Given the description of an element on the screen output the (x, y) to click on. 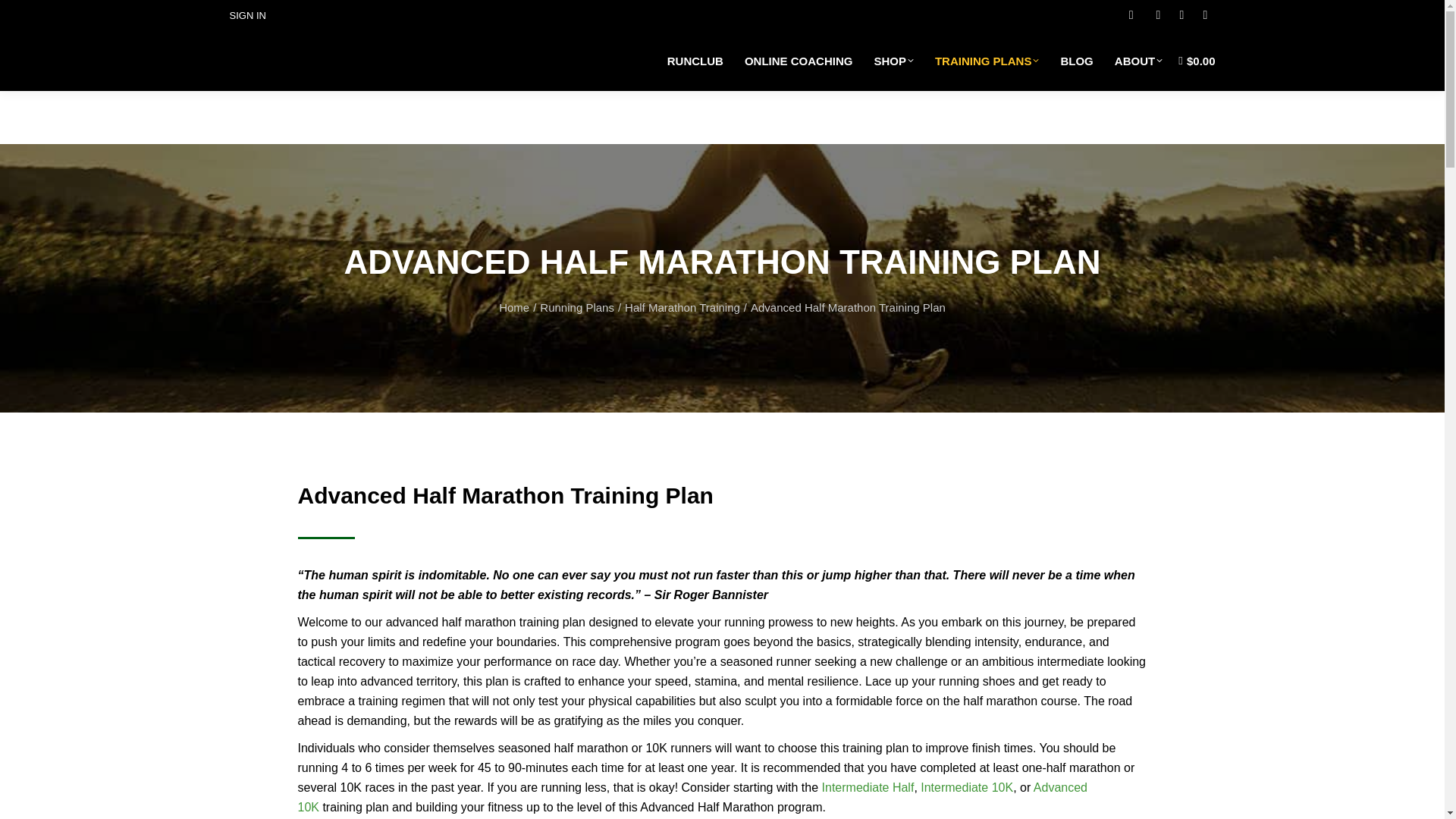
SIGN IN (246, 14)
Home (514, 307)
Facebook page opens in new window (1157, 14)
Running Plans (577, 307)
Strava page opens in new window (1182, 14)
Instagram page opens in new window (1204, 14)
Half Marathon Training (681, 307)
ONLINE COACHING (798, 60)
SHOP (893, 60)
TRAINING PLANS (986, 60)
Go! (26, 17)
RUNCLUB (694, 60)
